Given the description of an element on the screen output the (x, y) to click on. 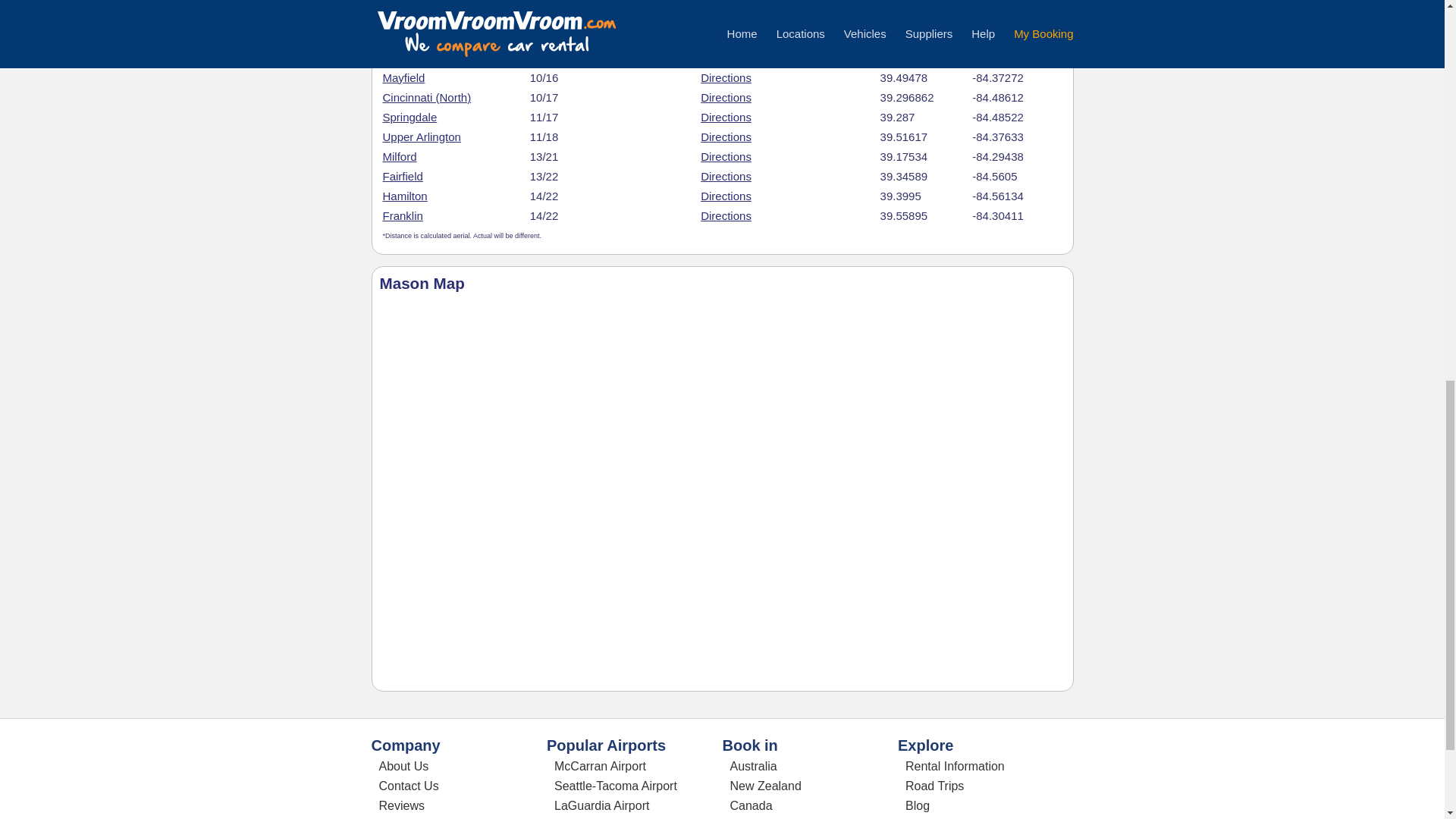
Hamilton (403, 195)
Franklin (401, 215)
Fairfield (401, 175)
Mayfield (403, 77)
Springdale (408, 116)
Milford (398, 155)
Upper Arlington (420, 136)
Sharonville (409, 57)
